Given the description of an element on the screen output the (x, y) to click on. 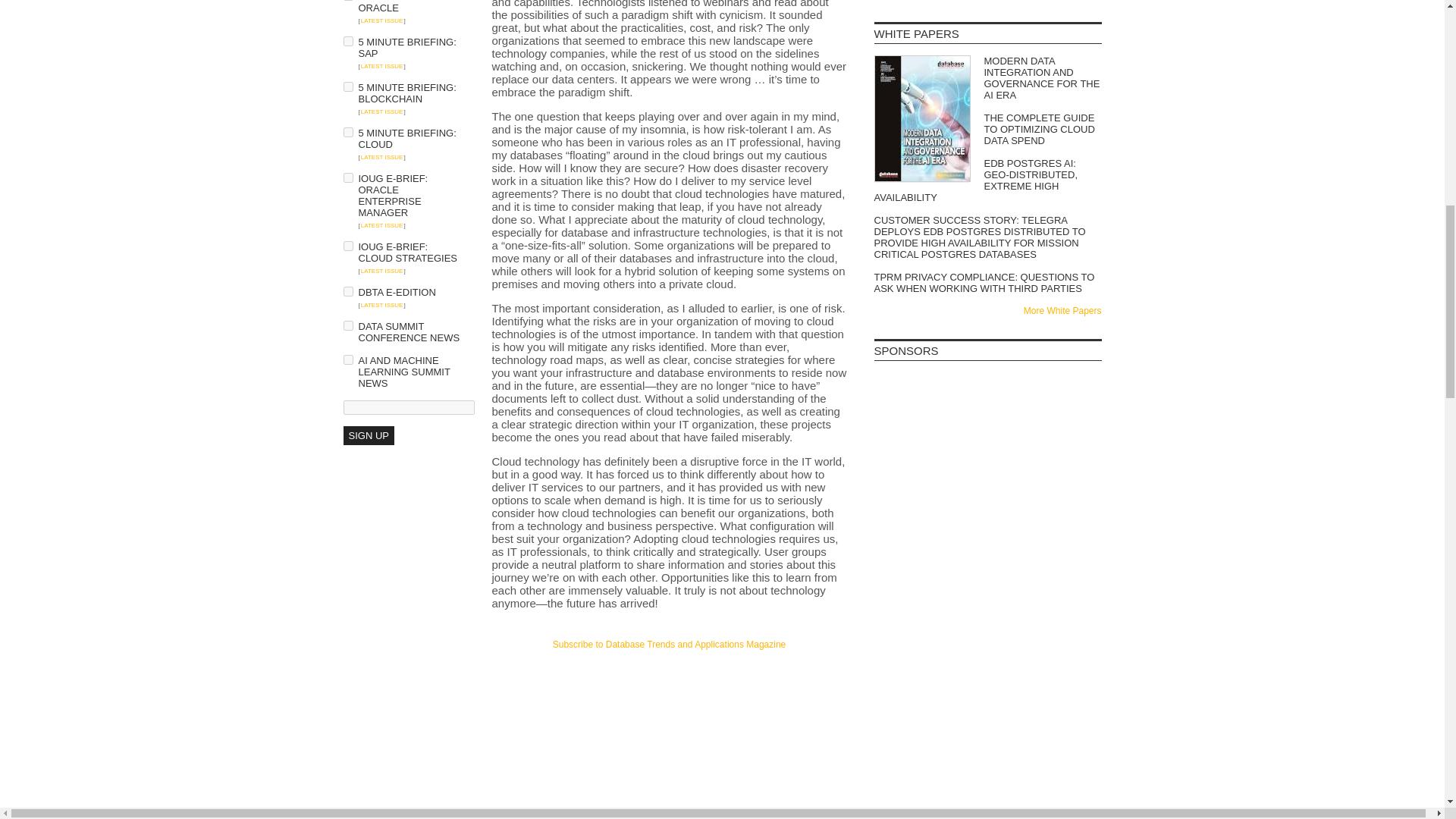
on (347, 291)
3rd party ad content (986, 500)
Modern Data Integration and Governance for the AI Era (986, 77)
on (347, 177)
on (347, 245)
3rd party ad content (668, 679)
on (347, 359)
3rd party ad content (986, 409)
on (347, 132)
